Given the description of an element on the screen output the (x, y) to click on. 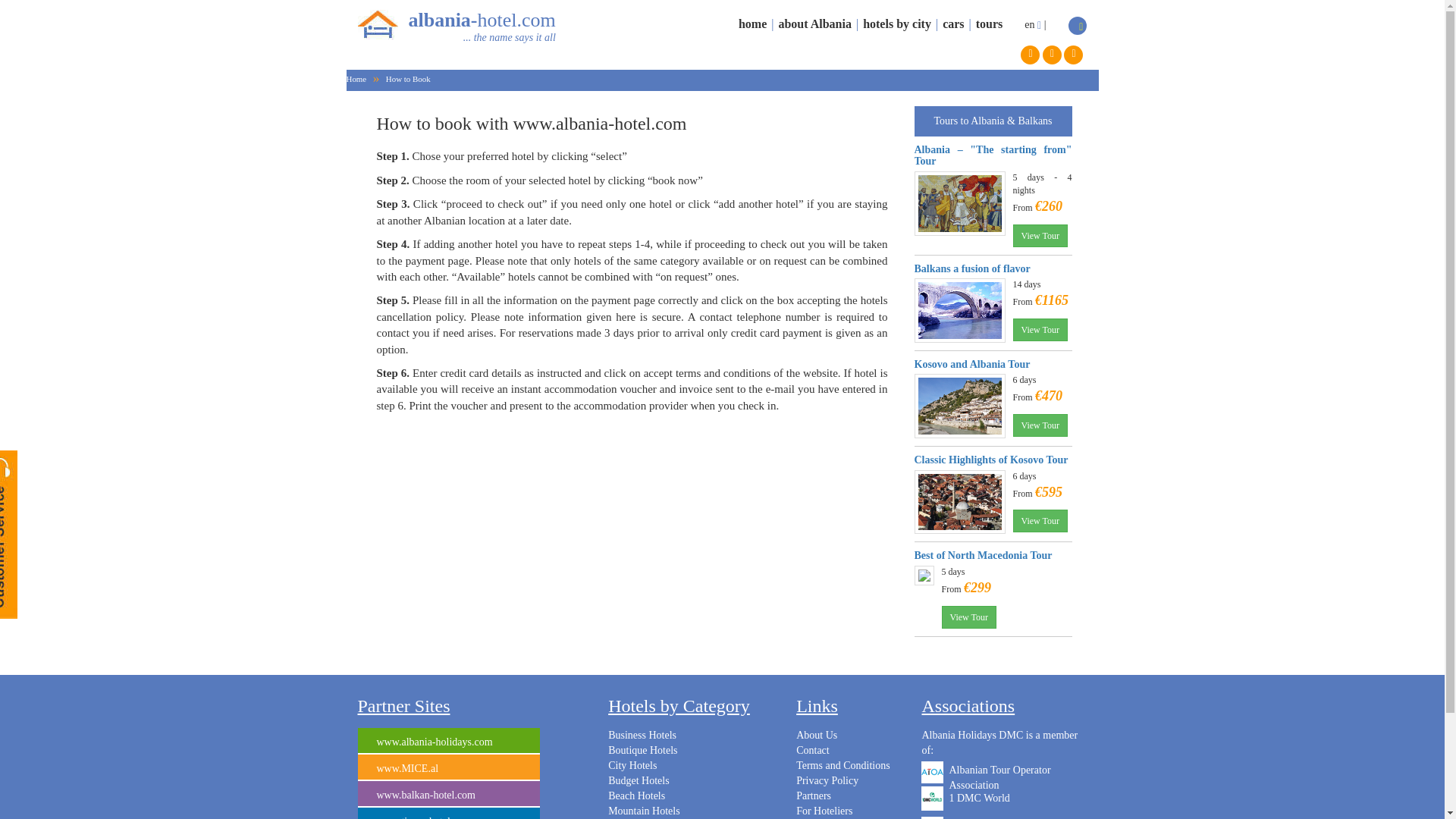
instagram (1051, 54)
MICE Albania (449, 767)
twitter (1073, 54)
home (752, 23)
Albania Hotel Logo (377, 24)
hotels by city (897, 23)
about Albania (813, 23)
facebook (1029, 54)
